Given the description of an element on the screen output the (x, y) to click on. 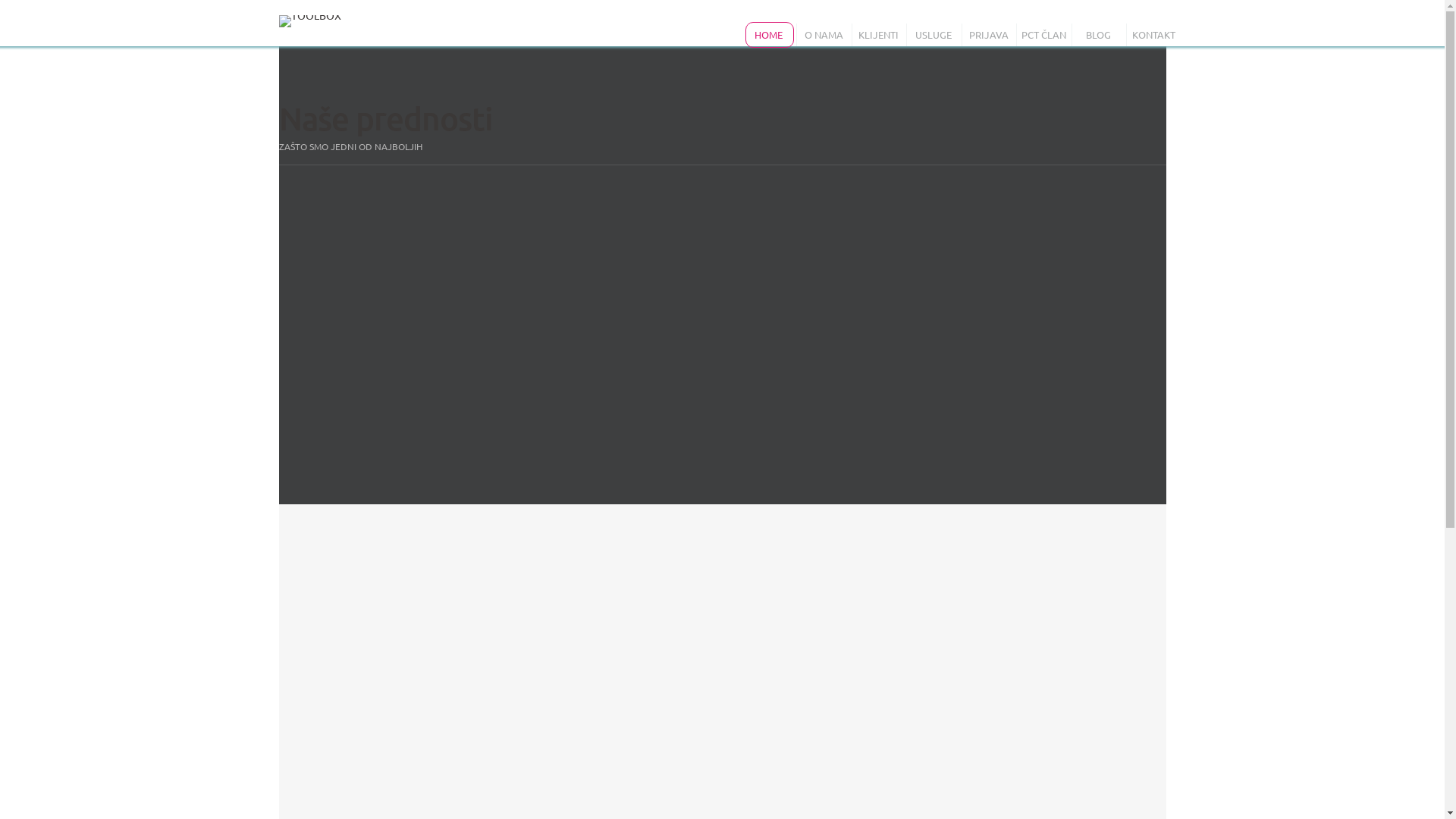
PRIJAVA Element type: text (988, 33)
BLOG Element type: text (1099, 33)
O NAMA Element type: text (823, 33)
One 2 Grow Element type: hover (310, 21)
USLUGE Element type: text (933, 33)
KONTAKT Element type: text (1153, 33)
HOME Element type: text (768, 33)
KLIJENTI Element type: text (879, 33)
